Given the description of an element on the screen output the (x, y) to click on. 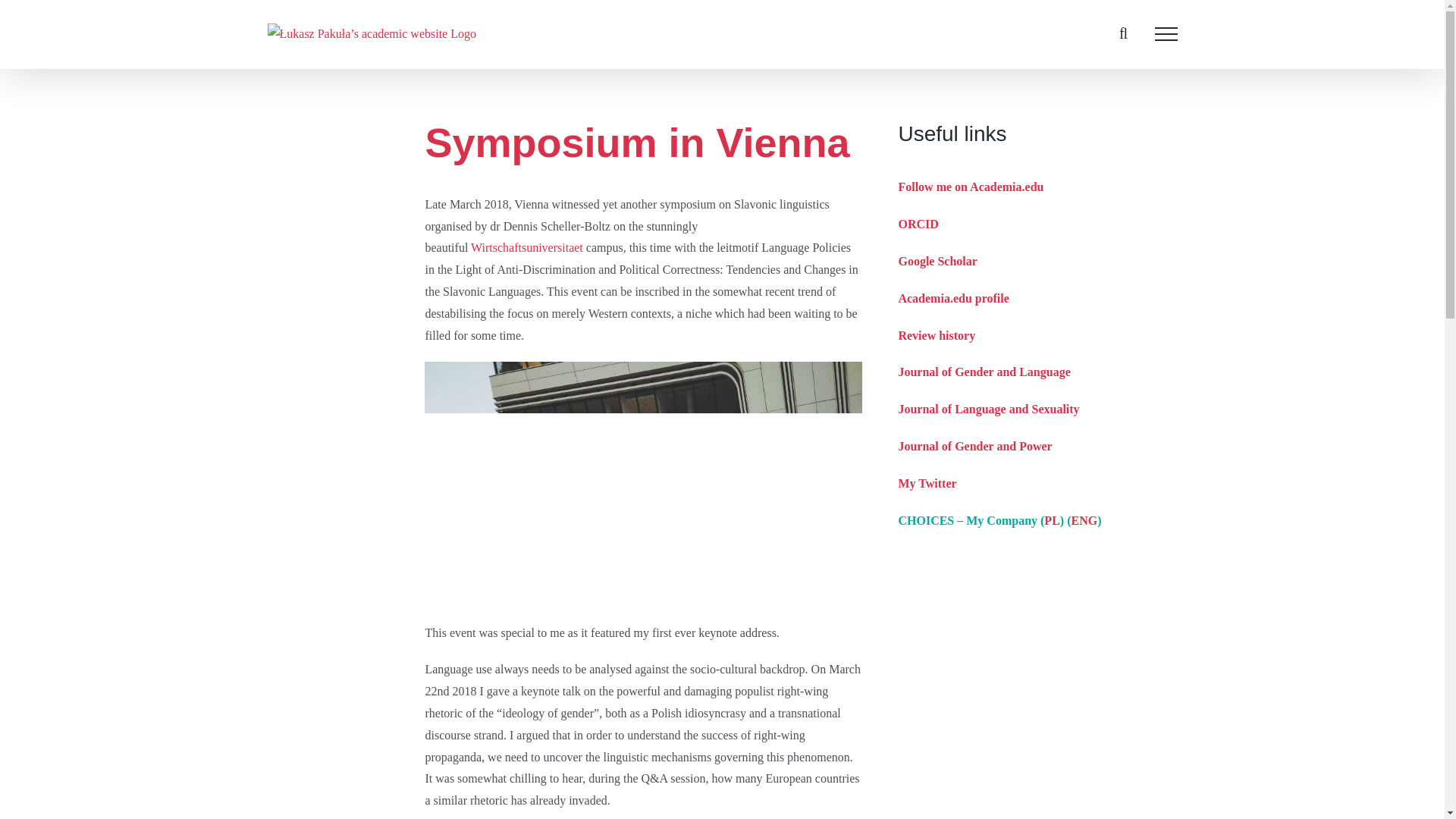
Journal of Language and Sexuality (988, 408)
Google Scholar (937, 260)
Academia.edu profile (953, 297)
ORCID (917, 223)
My Twitter (927, 482)
PL (1051, 520)
Wirtschaftsuniversitaet (526, 246)
Journal of Gender and Language (984, 371)
Follow me on Academia.edu (970, 186)
Review history (936, 335)
